Given the description of an element on the screen output the (x, y) to click on. 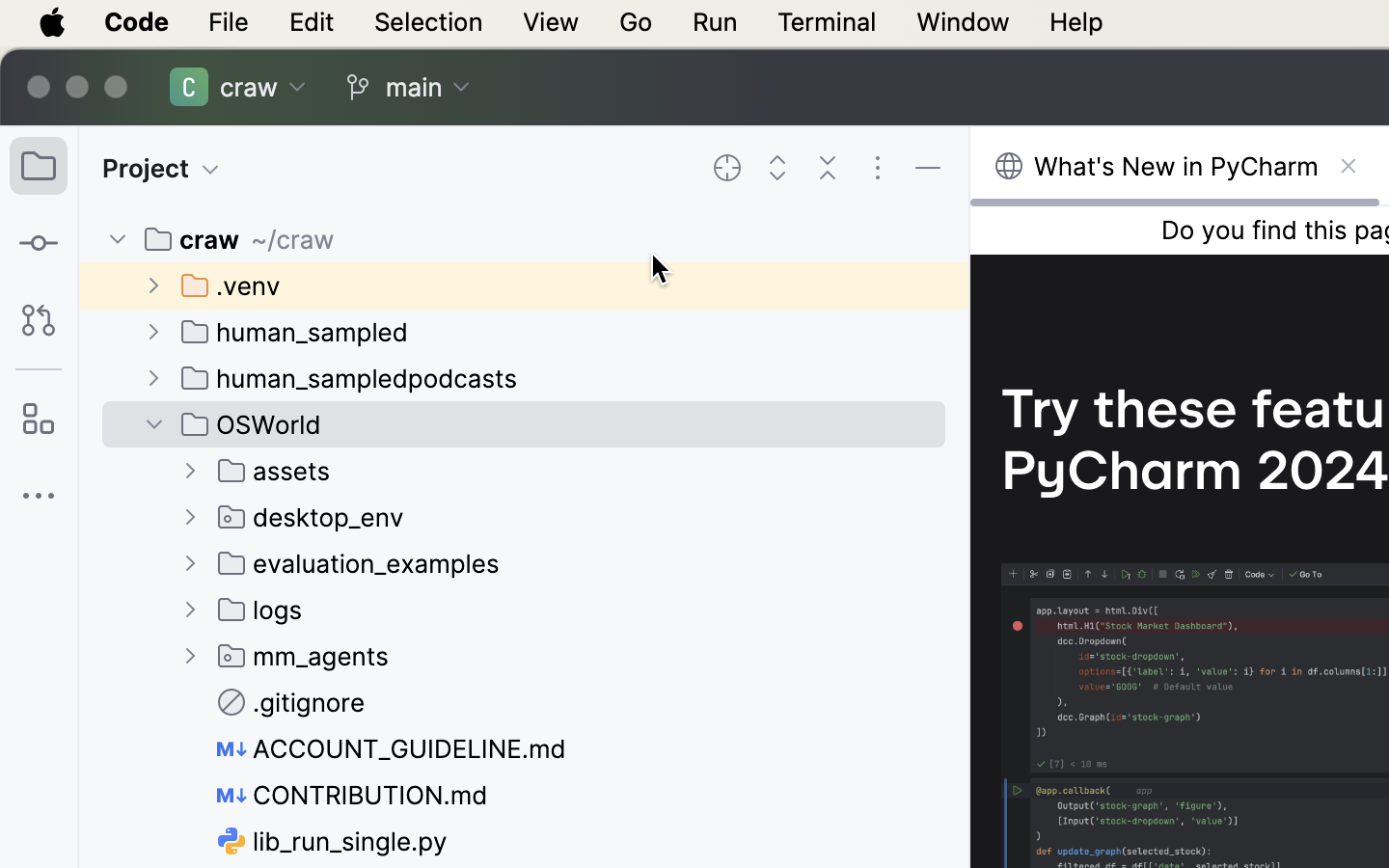
lib_run_single.py Element type: AXStaticText (332, 840)
0 Element type: AXGroup (319, 86)
CONTRIBUTION.md Element type: AXStaticText (352, 794)
assets Element type: AXStaticText (274, 470)
.gitignore Element type: AXStaticText (292, 701)
